Given the description of an element on the screen output the (x, y) to click on. 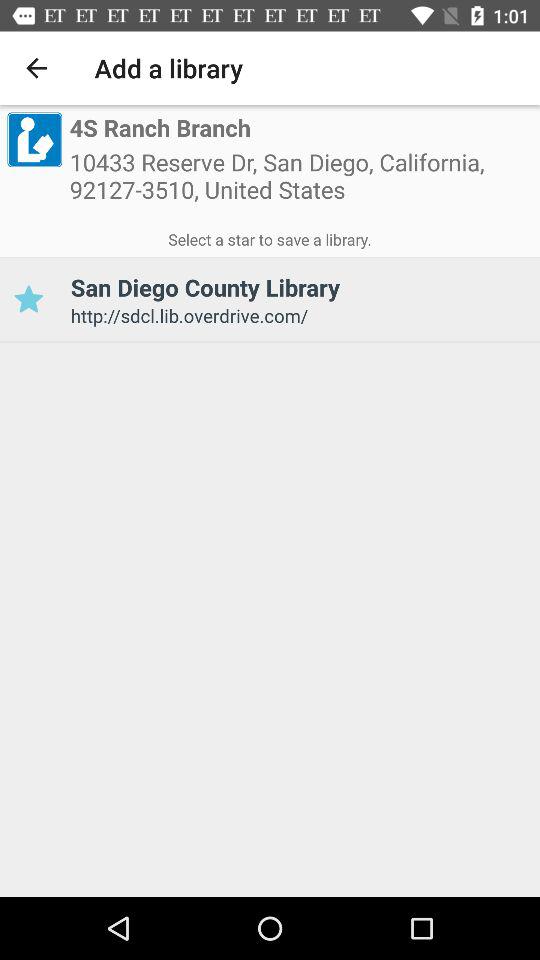
turn on 10433 reserve dr icon (301, 182)
